Given the description of an element on the screen output the (x, y) to click on. 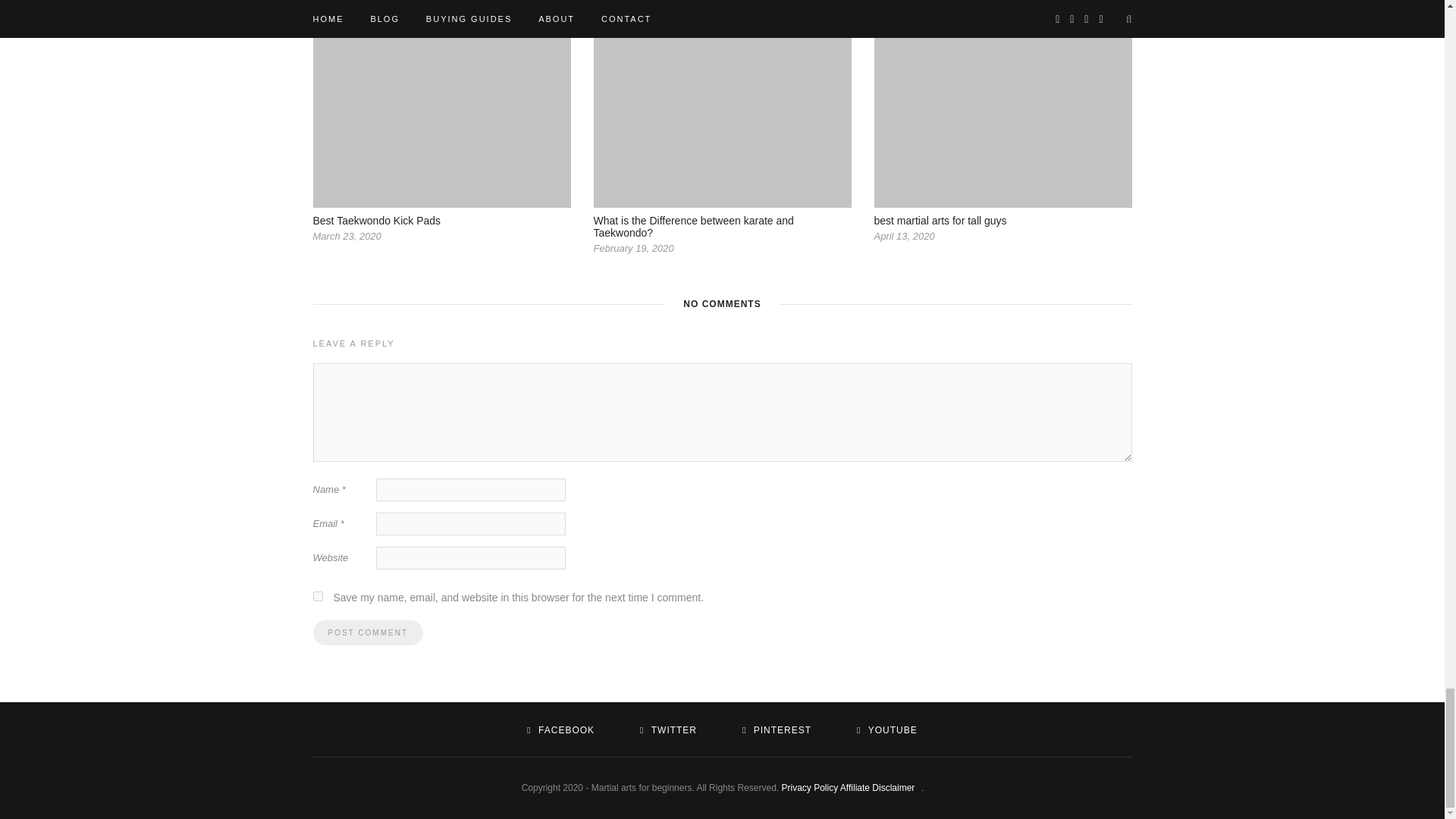
yes (317, 596)
Post Comment (367, 632)
Privacy Policy (809, 787)
PINTEREST (776, 729)
Post Comment (367, 632)
best martial arts for tall guys (939, 220)
What is the Difference between karate and Taekwondo? (692, 226)
Affiliate Disclaimer (877, 787)
YOUTUBE (887, 729)
TWITTER (668, 729)
FACEBOOK (560, 729)
Best Taekwondo Kick Pads (377, 220)
